Given the description of an element on the screen output the (x, y) to click on. 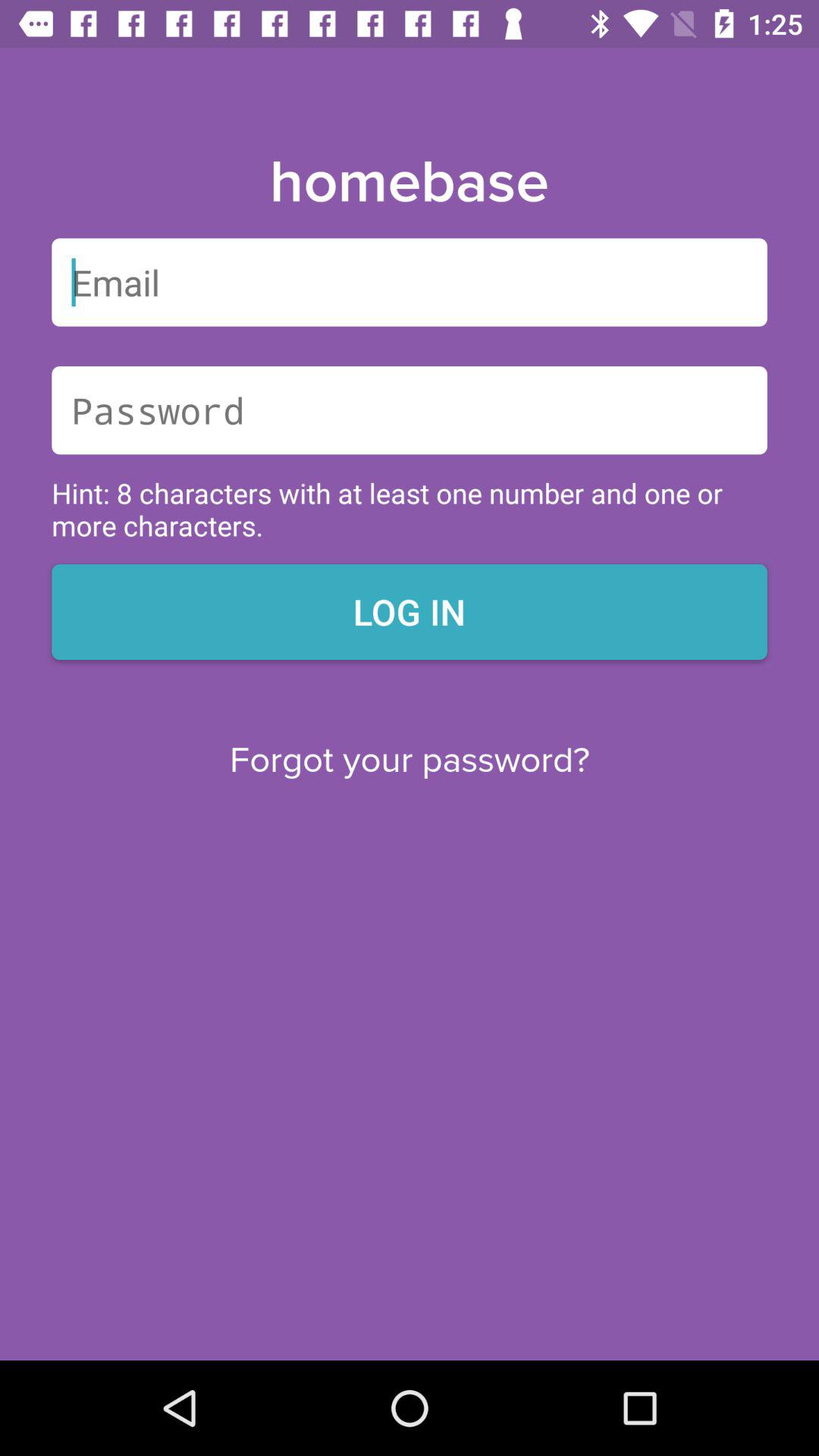
opens a field to type a password (409, 410)
